Given the description of an element on the screen output the (x, y) to click on. 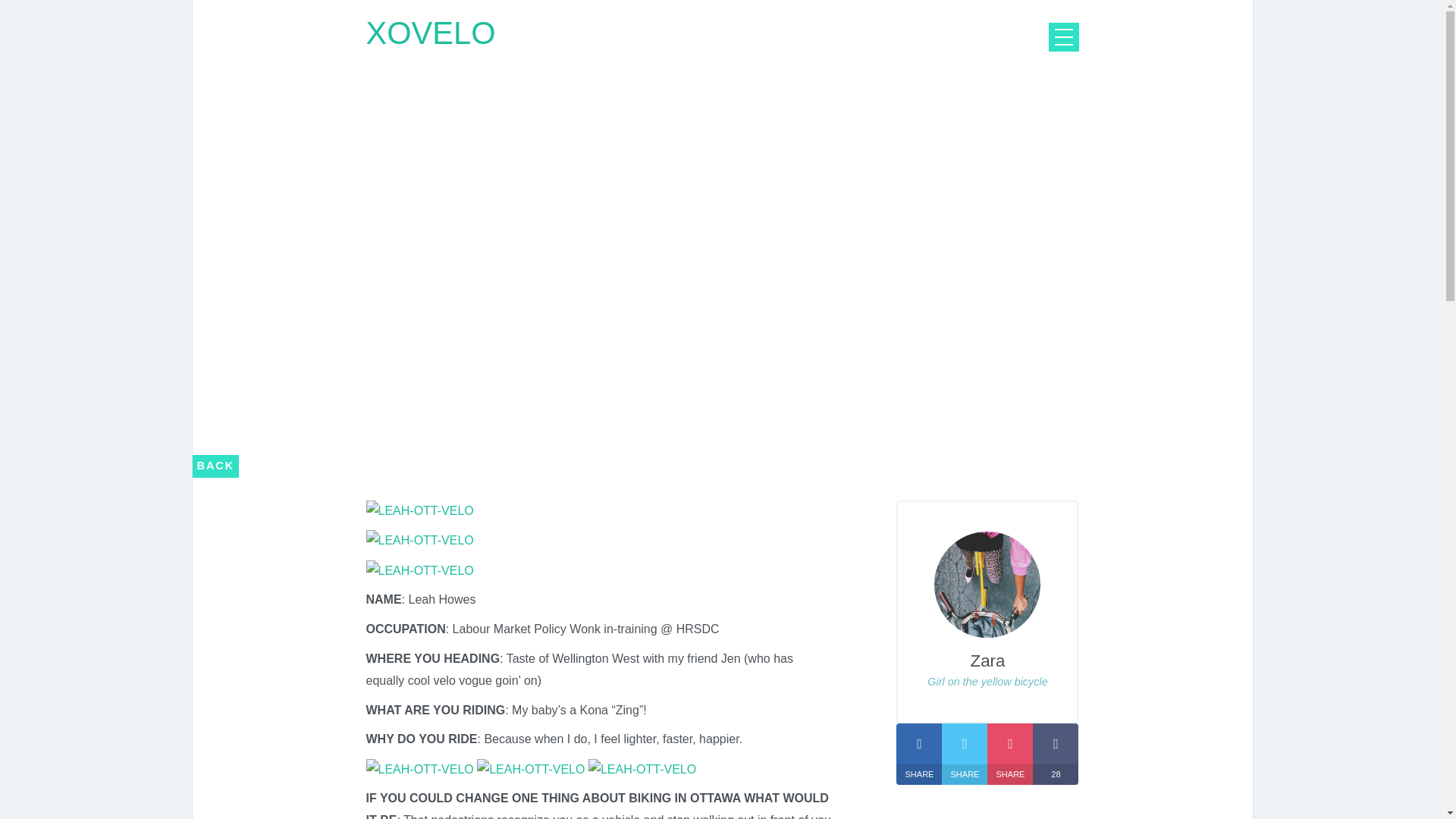
XOVELO (430, 32)
BACK (216, 466)
